Given the description of an element on the screen output the (x, y) to click on. 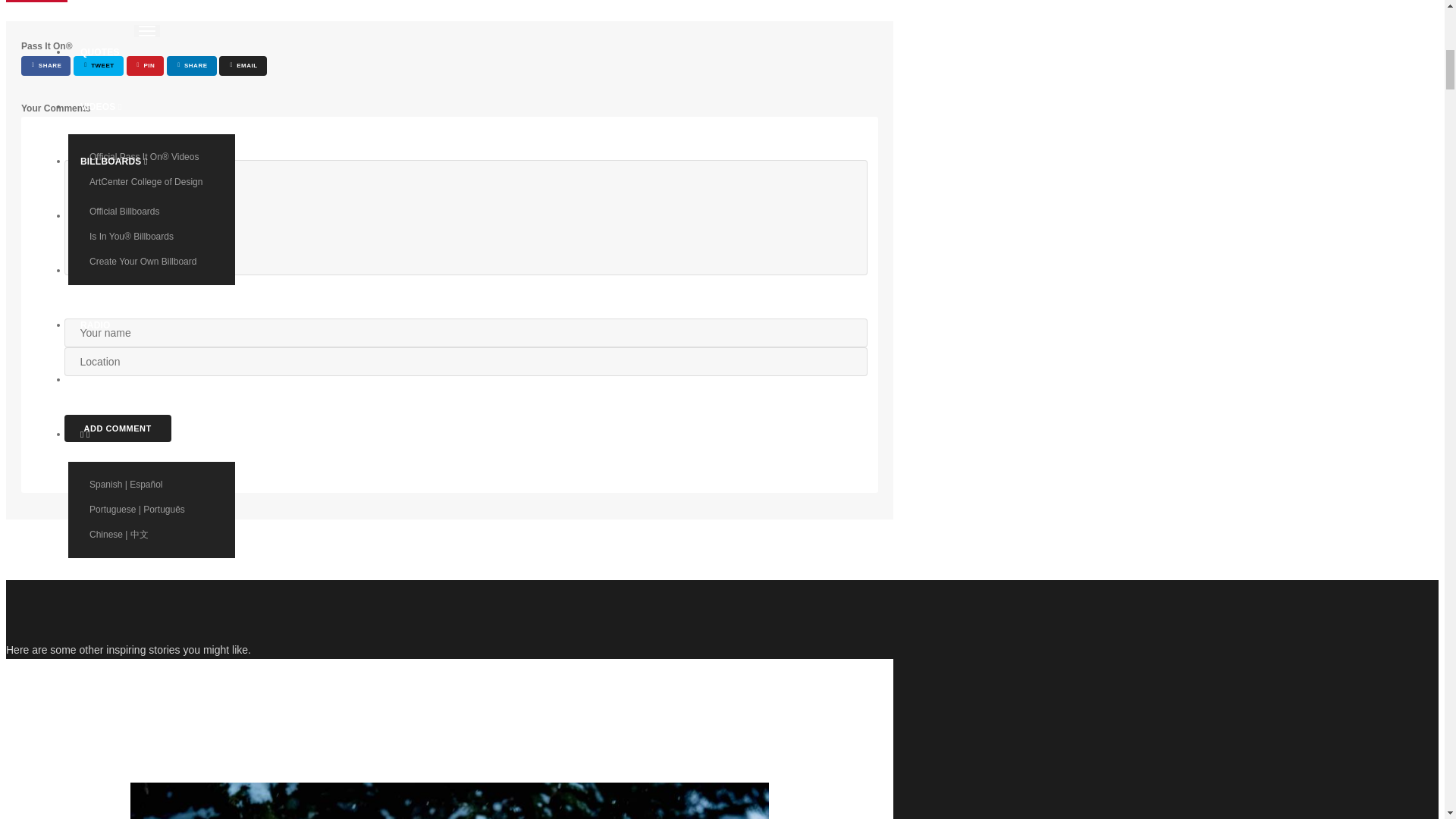
  TWEET (98, 66)
  EMAIL (242, 66)
  SHARE (191, 66)
Add Comment (117, 428)
Add Comment (117, 428)
  PIN (145, 66)
  SHARE (45, 66)
